Given the description of an element on the screen output the (x, y) to click on. 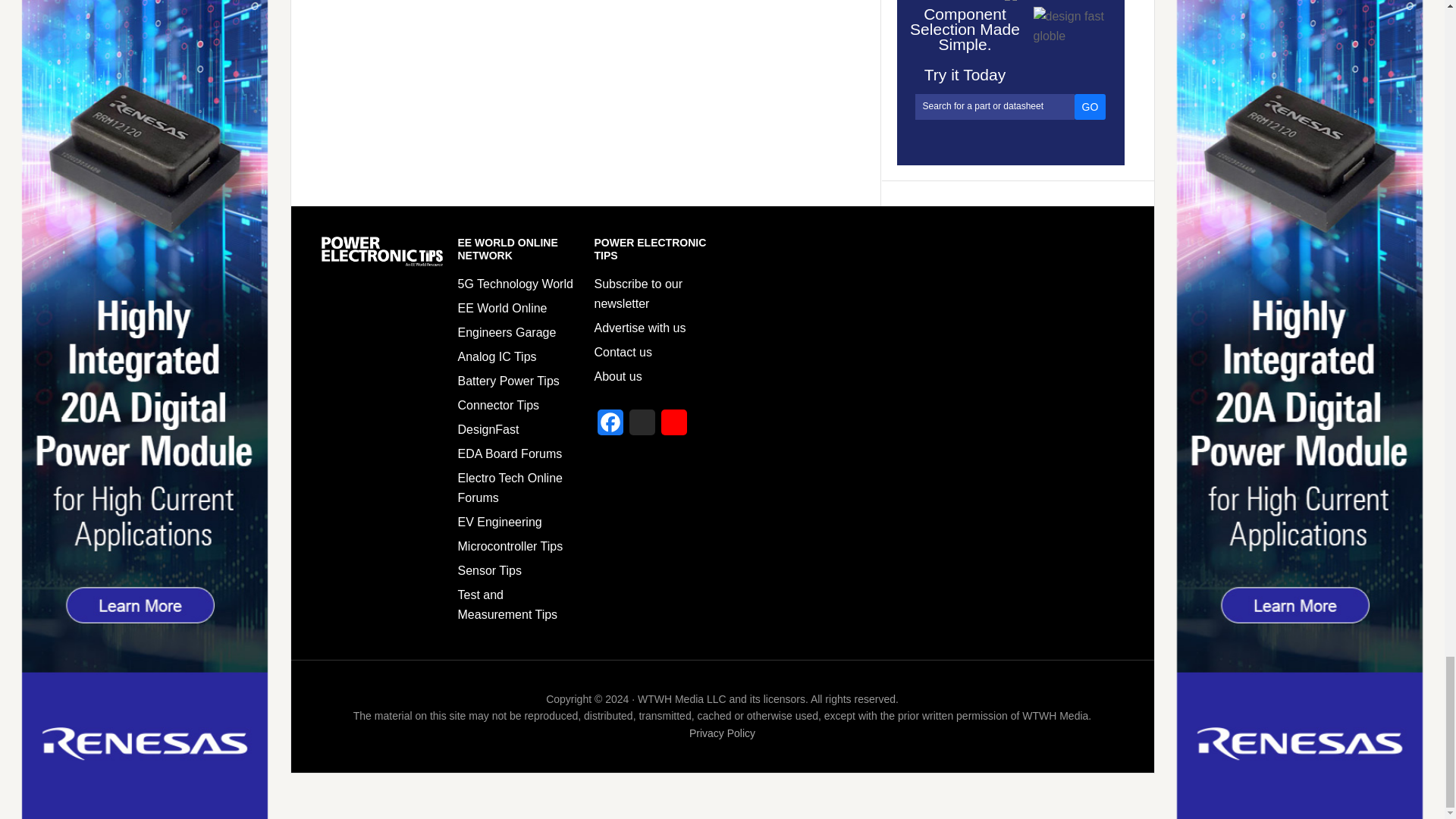
Facebook (610, 426)
GO (1090, 106)
X (642, 426)
YouTube Channel (674, 426)
